Given the description of an element on the screen output the (x, y) to click on. 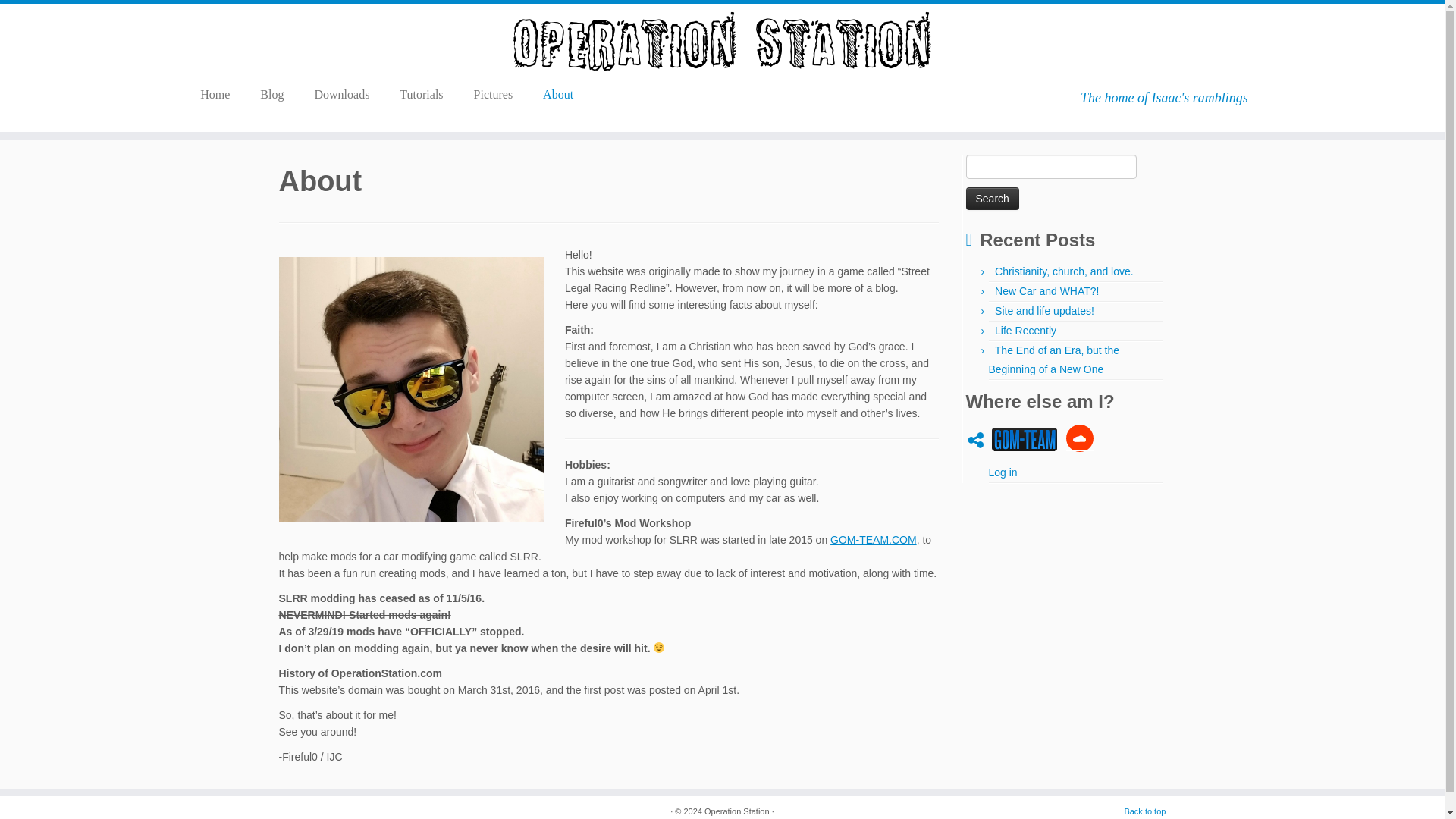
New Car and WHAT?! (1046, 291)
Downloads (341, 94)
Christianity, church, and love. (1064, 271)
Log in (1002, 472)
Blog (271, 94)
Pictures (493, 94)
About (557, 94)
Operation Station (737, 811)
Site and life updates! (1044, 310)
GOM-TEAM.COM (873, 539)
Search (992, 198)
Search (992, 198)
Life Recently (1025, 330)
Home (220, 94)
Back to top (1145, 810)
